Given the description of an element on the screen output the (x, y) to click on. 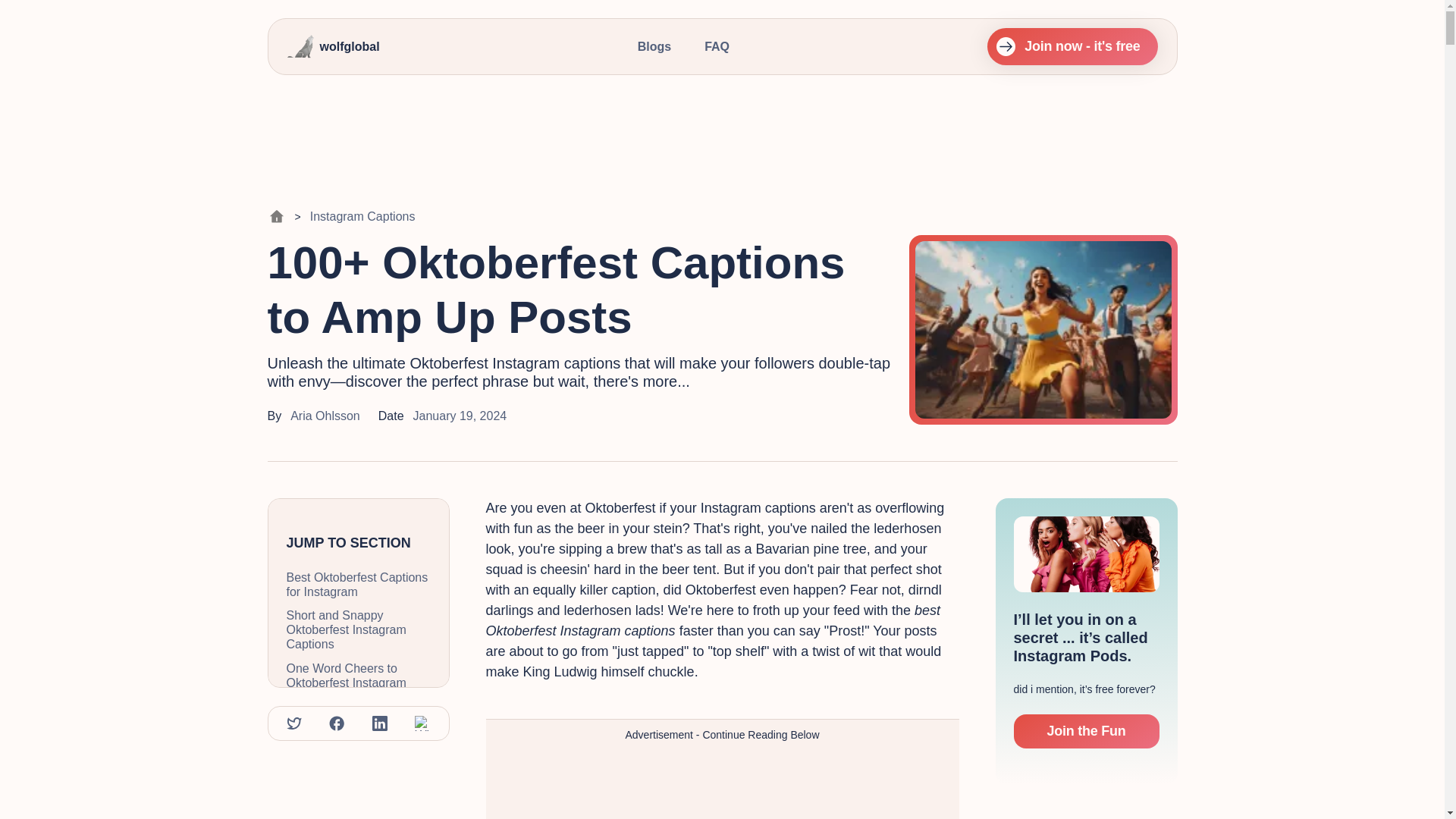
FAQ (717, 46)
One Word Cheers to Oktoberfest Instagram Captions (358, 682)
Aria Ohlsson (324, 415)
Join now - it's free (1072, 46)
Clever Bavarian Attire Captions for Instagram (358, 804)
wolfglobal (333, 46)
Join the Fun (1085, 731)
Instagram Captions (362, 216)
Best Oktoberfest Captions for Instagram (358, 584)
Funny Beer Tent Banter Instagram Captions (358, 727)
Aesthetic Dirndl Fashion Shots Captions (358, 765)
Short and Snappy Oktoberfest Instagram Captions (358, 629)
Blogs (654, 46)
